Given the description of an element on the screen output the (x, y) to click on. 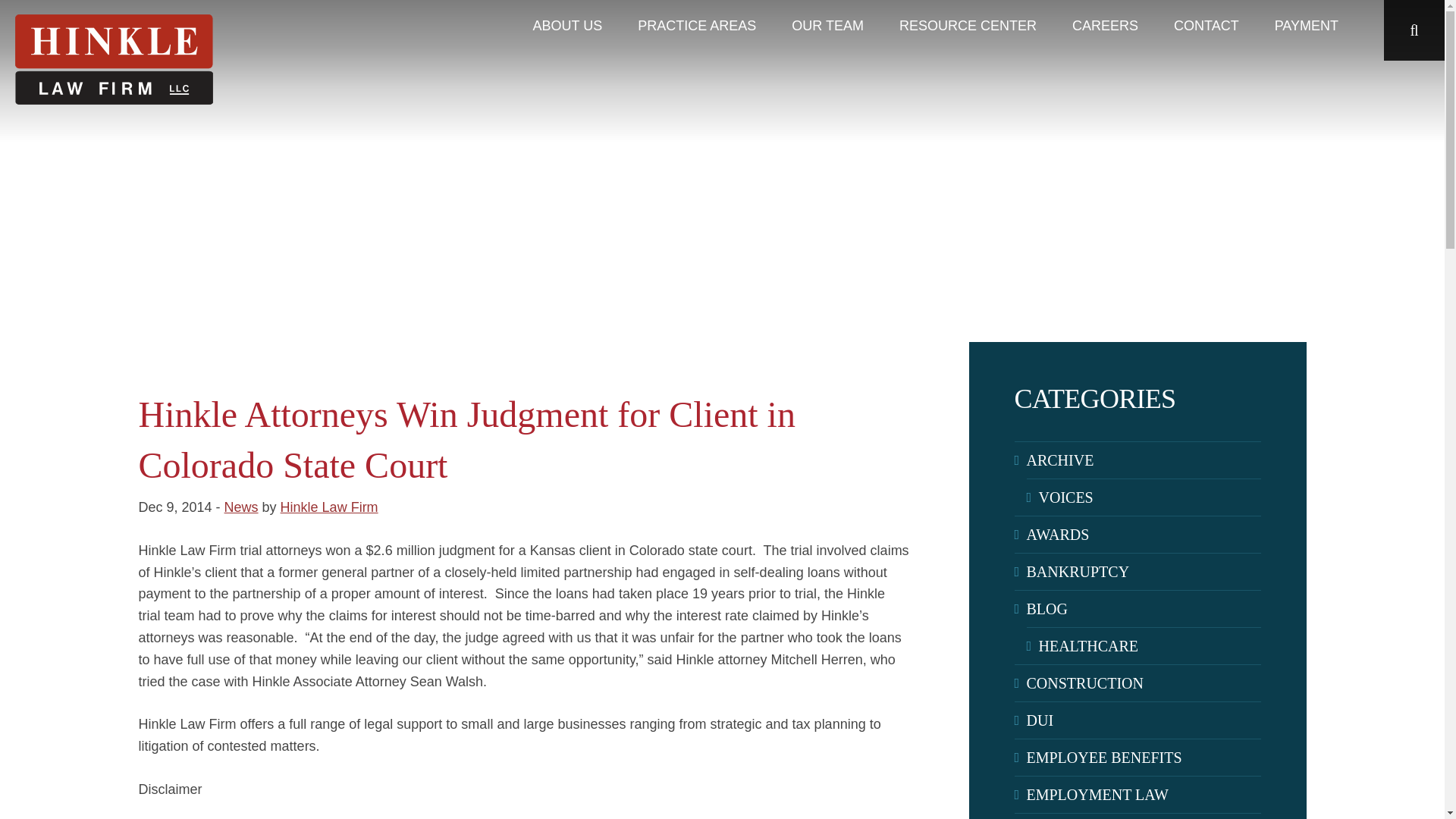
Hinkle Law Firm (329, 507)
CONTACT (1206, 25)
News (241, 507)
ARCHIVE (1143, 460)
OUR TEAM (827, 25)
PAYMENT (1306, 25)
CAREERS (1104, 25)
BANKRUPTCY (1143, 571)
CONSTRUCTION (1143, 683)
PRACTICE AREAS (696, 25)
